Given the description of an element on the screen output the (x, y) to click on. 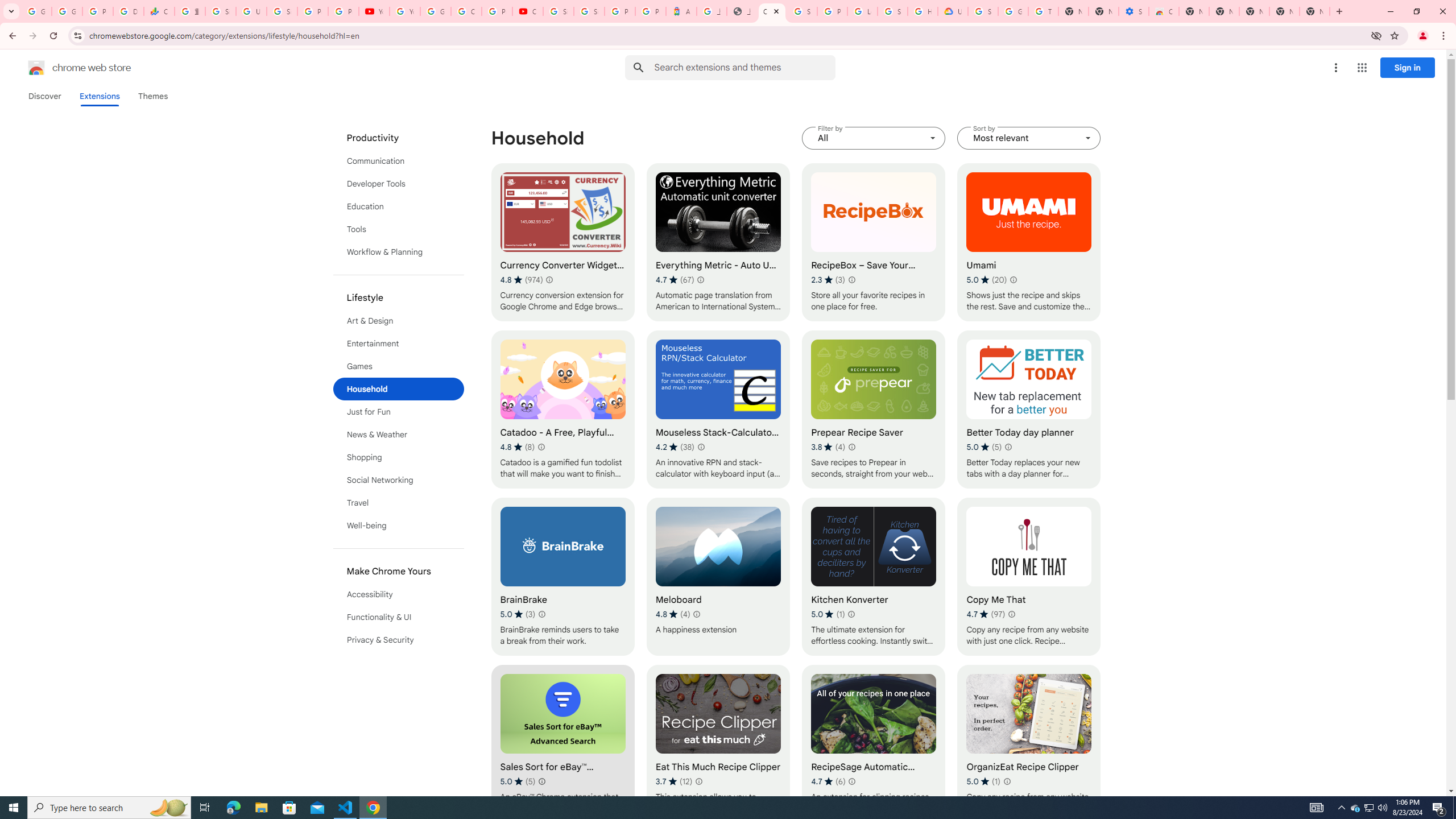
Extensions (99, 95)
Google Account Help (1012, 11)
Social Networking (398, 479)
Atour Hotel - Google hotels (681, 11)
Average rating 3.8 out of 5 stars. 4 ratings. (827, 446)
Learn more about results and reviews "BrainBrake" (542, 613)
Average rating 4.8 out of 5 stars. 4 ratings. (672, 613)
